Given the description of an element on the screen output the (x, y) to click on. 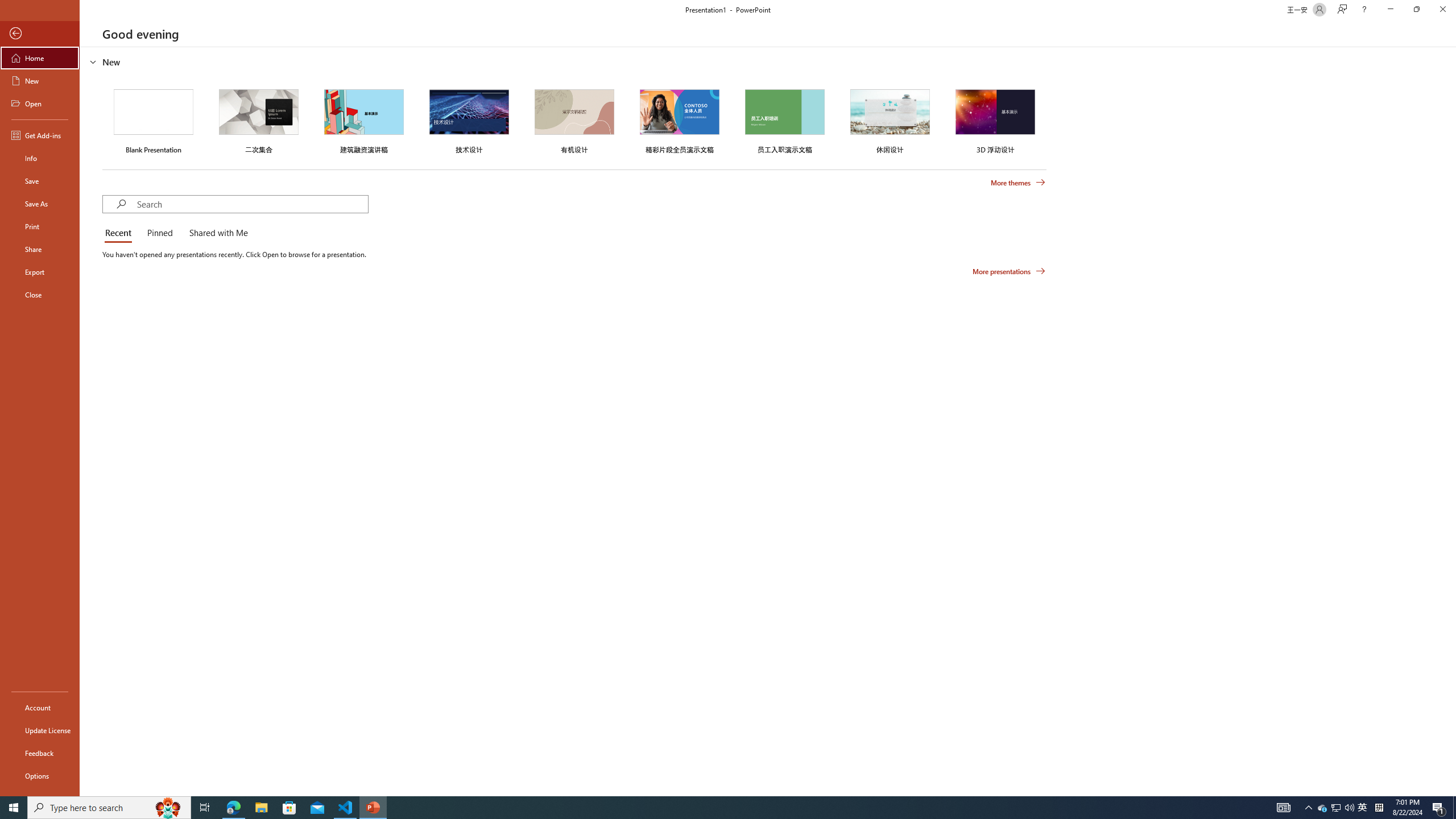
Hide or show region (92, 61)
Update License (40, 730)
More presentations (1008, 270)
Close (40, 294)
Info (40, 157)
Restore Down (1416, 9)
